Given the description of an element on the screen output the (x, y) to click on. 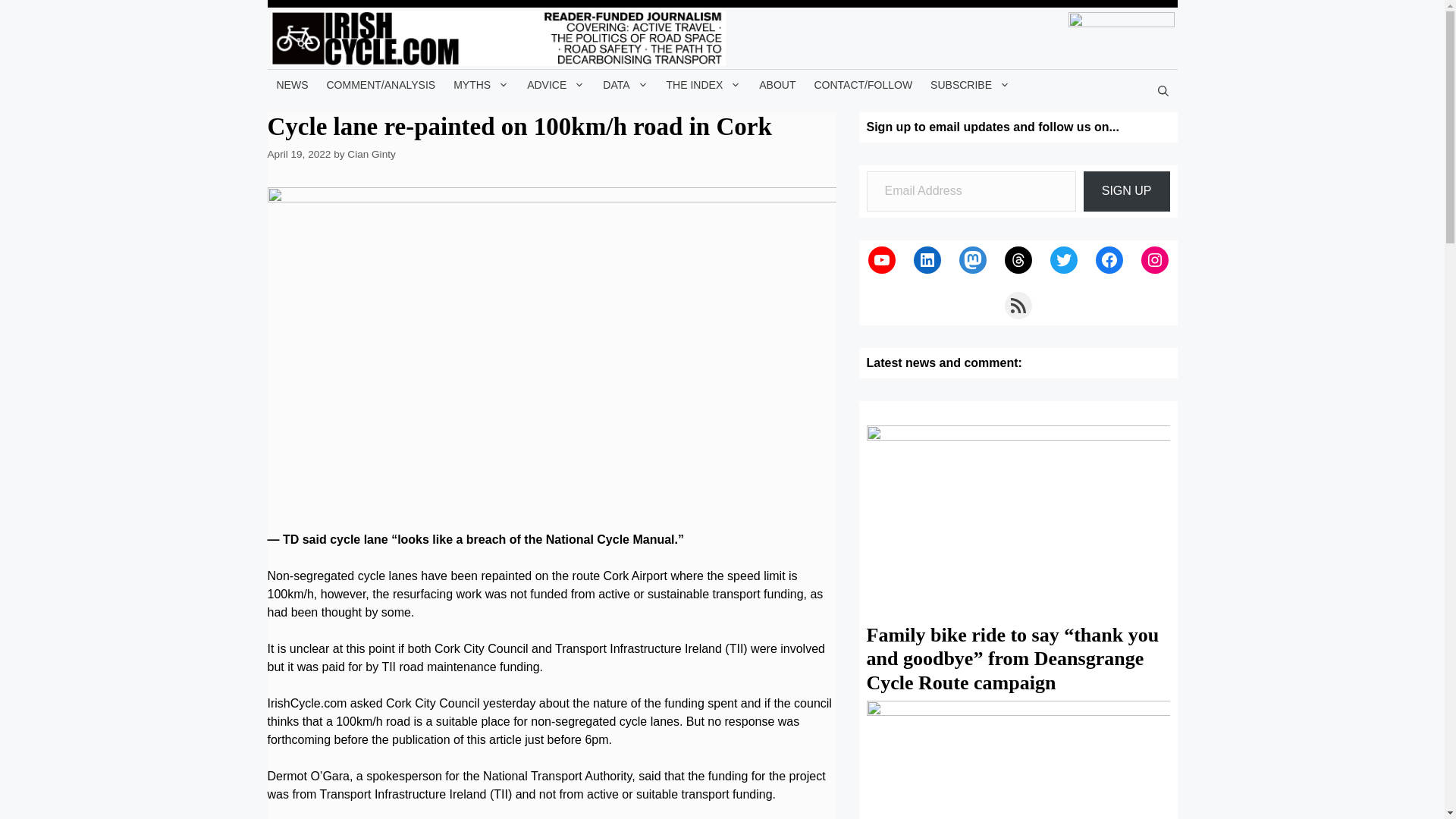
ADVICE (556, 84)
Cian Ginty (370, 153)
THE INDEX (704, 84)
SUBSCRIBE (970, 84)
NEWS (291, 84)
DATA (625, 84)
Please fill in this field. (970, 191)
View all posts by Cian Ginty (370, 153)
MYTHS (481, 84)
ABOUT (777, 84)
